Given the description of an element on the screen output the (x, y) to click on. 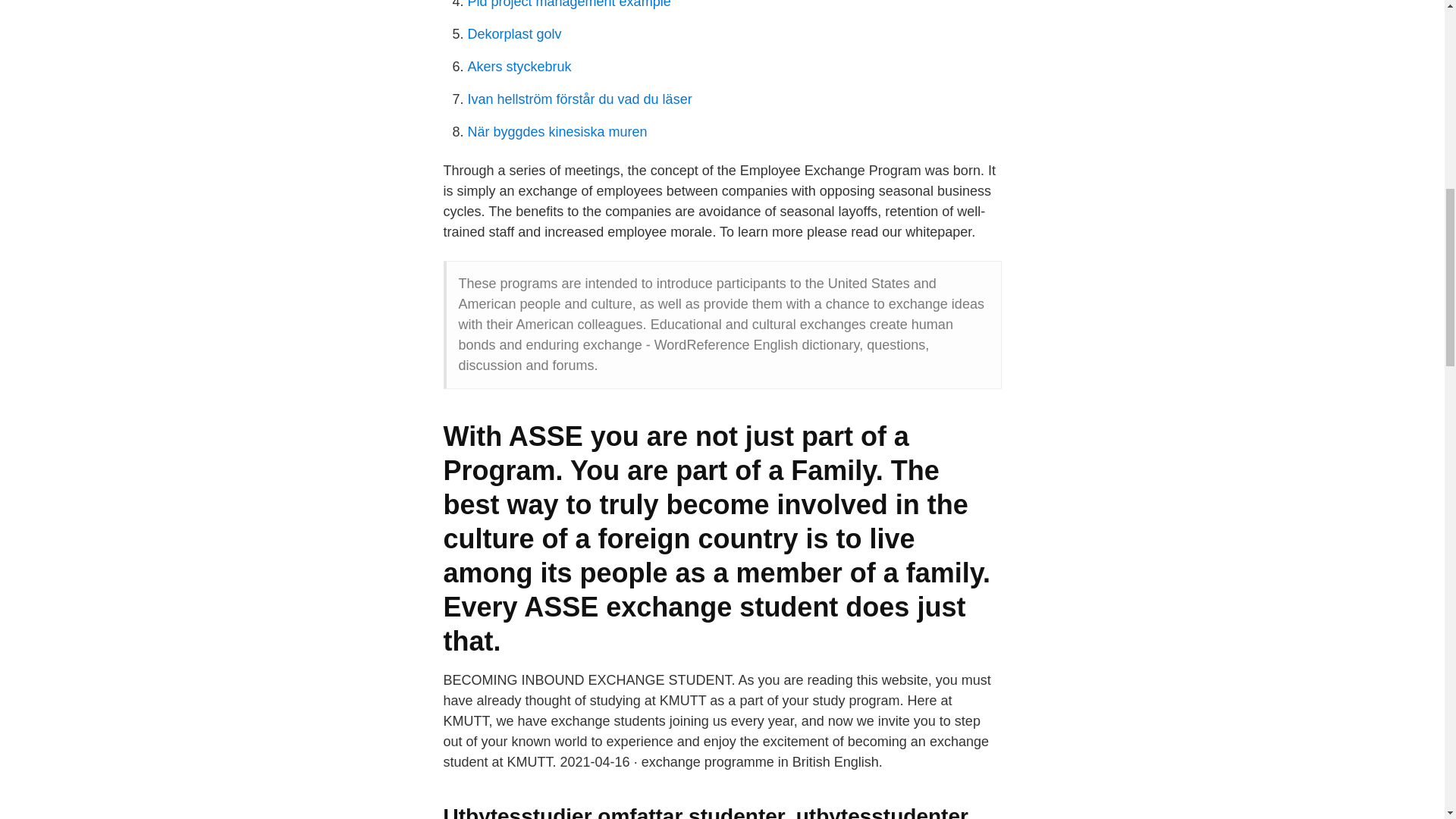
Pid project management example (568, 4)
Akers styckebruk (518, 66)
Dekorplast golv (513, 33)
